Given the description of an element on the screen output the (x, y) to click on. 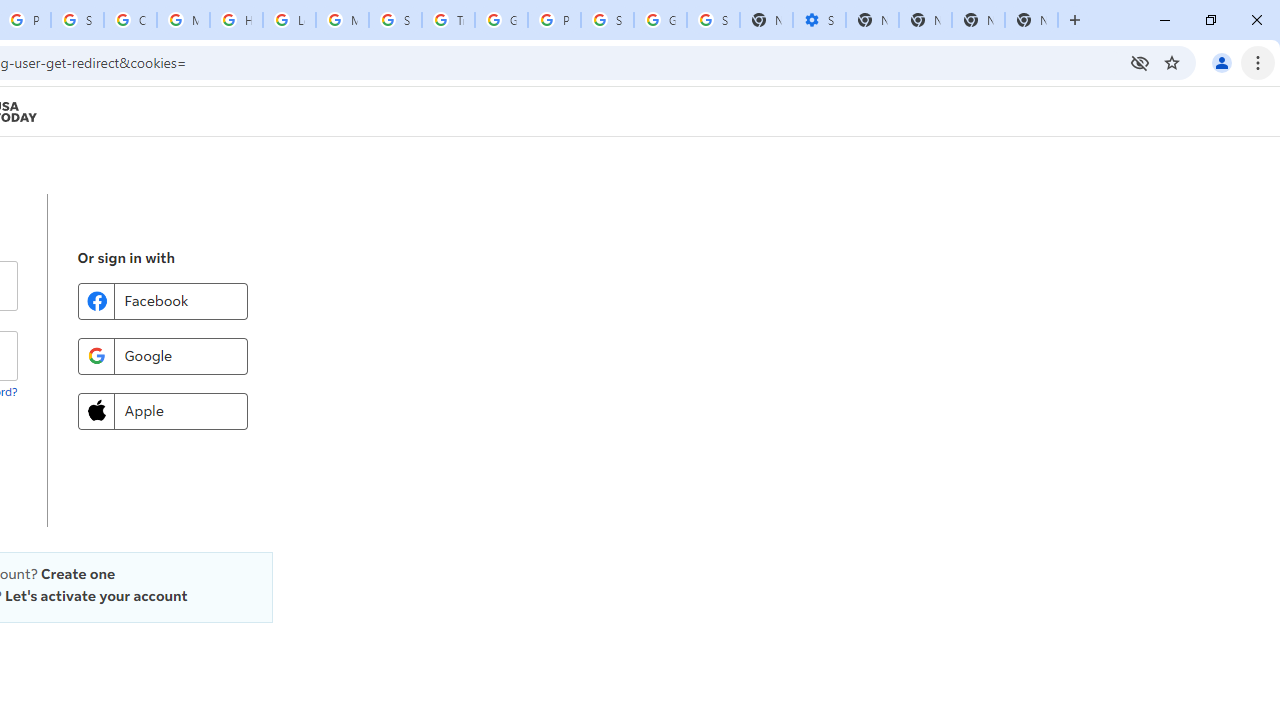
Search our Doodle Library Collection - Google Doodles (395, 20)
Trusted Information and Content - Google Safety Center (448, 20)
Facebook (162, 300)
Apple (162, 410)
Google Ads - Sign in (501, 20)
Google (162, 355)
